Given the description of an element on the screen output the (x, y) to click on. 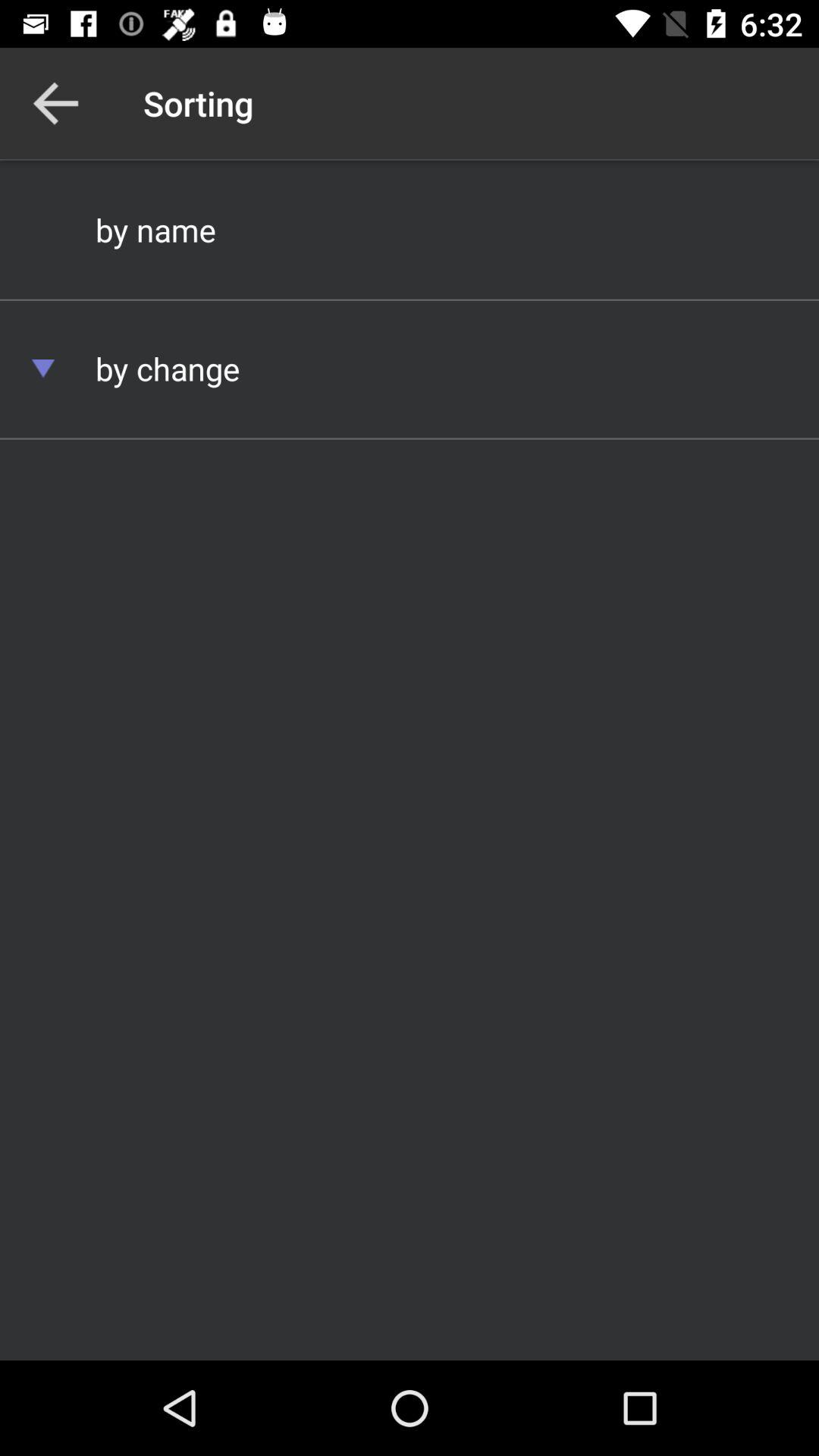
turn off item below by name item (42, 368)
